Given the description of an element on the screen output the (x, y) to click on. 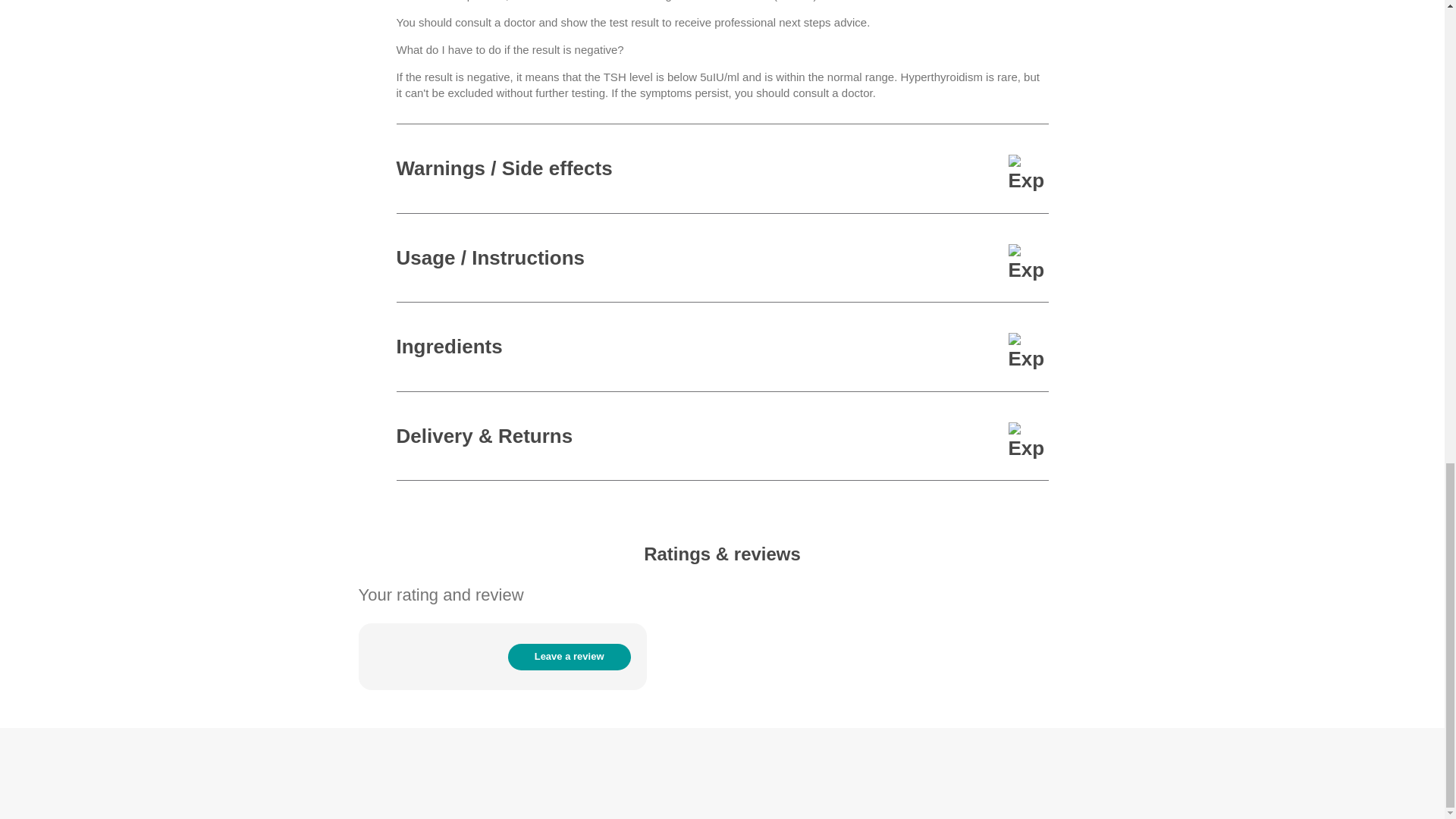
Leave a review (569, 656)
